Given the description of an element on the screen output the (x, y) to click on. 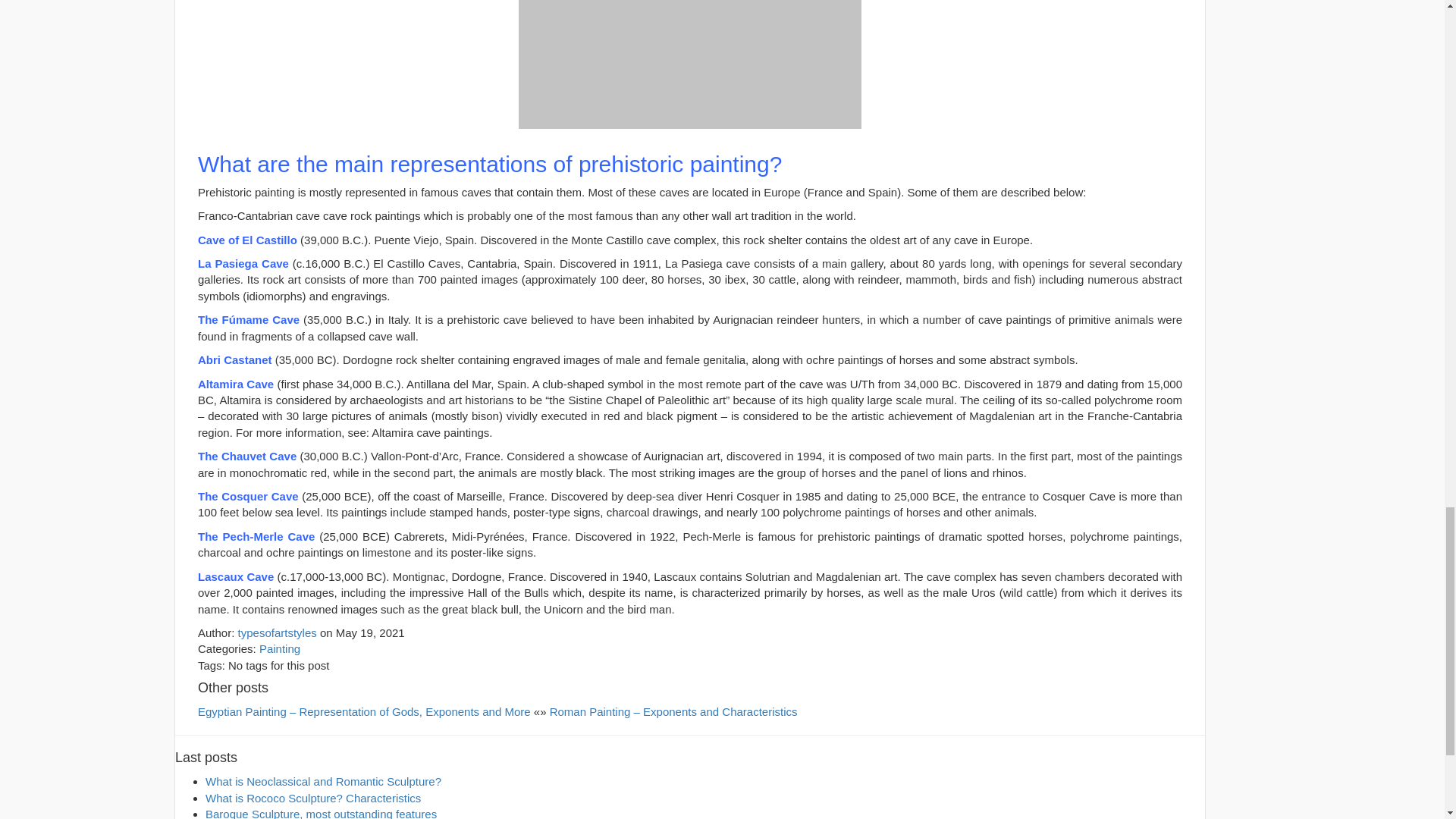
typesofartstyles (277, 632)
Painting (279, 648)
What is Neoclassical and Romantic Sculpture? (323, 780)
What is Rococo Sculpture? Characteristics (312, 797)
importance of prehistoric painting (689, 64)
Baroque Sculpture, most outstanding features (320, 813)
Posts by typesofartstyles (277, 632)
